Given the description of an element on the screen output the (x, y) to click on. 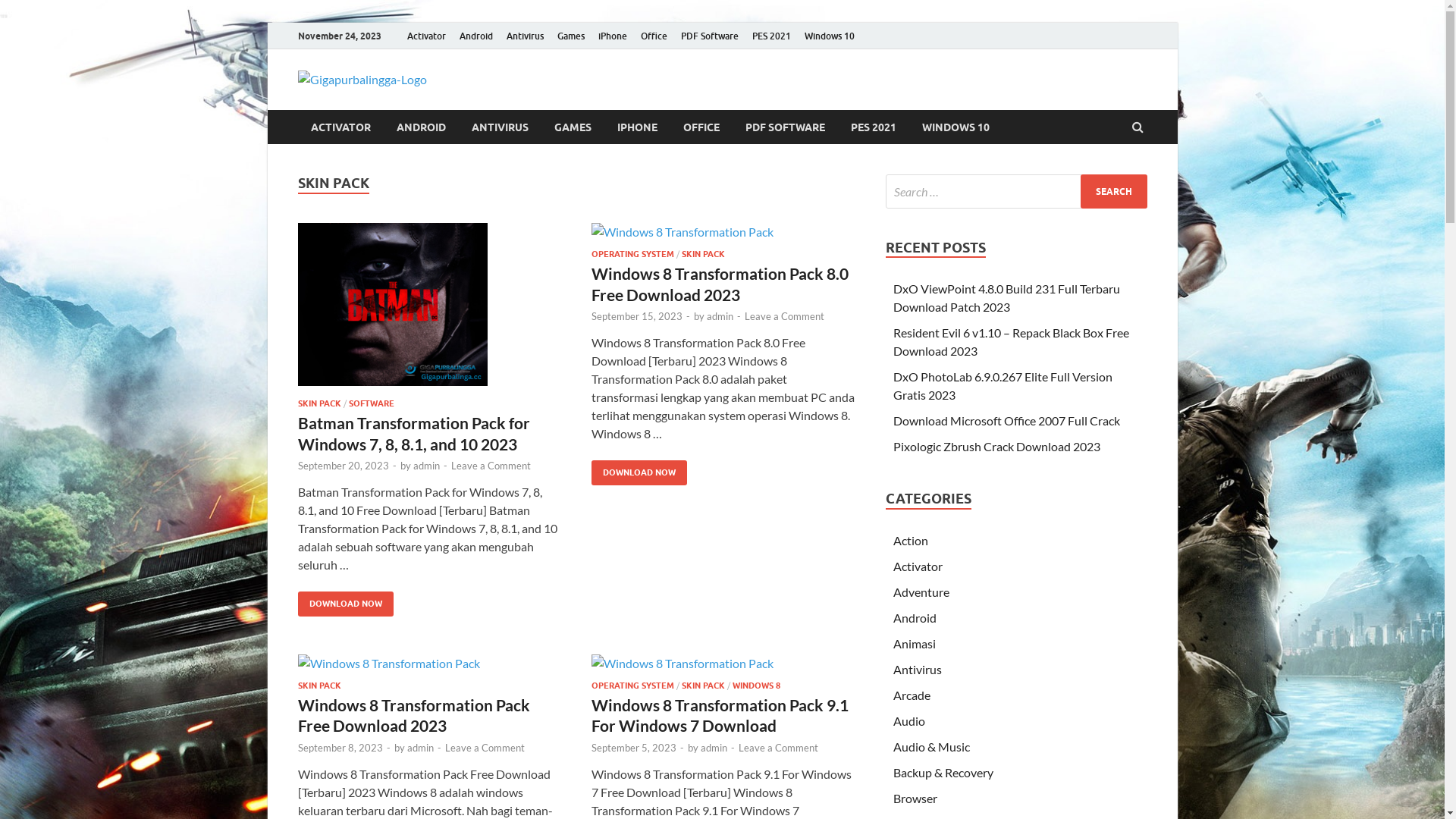
ACTIVATOR Element type: text (339, 126)
Windows 8 Transformation Pack Free Download 2023 Element type: hover (429, 667)
DxO PhotoLab 6.9.0.267 Elite Full Version Gratis 2023 Element type: text (1002, 385)
Windows 8 Transformation Pack 9.1 For Windows 7 Download Element type: text (719, 714)
Pixologic Zbrush Crack Download 2023 Element type: text (996, 446)
Activator Element type: text (426, 35)
iPhone Element type: text (612, 35)
September 8, 2023 Element type: text (339, 747)
SKIN PACK Element type: text (318, 403)
WINDOWS 8 Element type: text (756, 685)
Antivirus Element type: text (917, 669)
ANTIVIRUS Element type: text (499, 126)
IPHONE Element type: text (636, 126)
Office Element type: text (653, 35)
September 15, 2023 Element type: text (636, 316)
SOFTWARE Element type: text (371, 403)
admin Element type: text (719, 316)
Antivirus Element type: text (523, 35)
Android Element type: text (914, 617)
SKIN PACK Element type: text (318, 685)
September 5, 2023 Element type: text (633, 747)
SKIN PACK Element type: text (702, 253)
Action Element type: text (910, 540)
DOWNLOAD NOW Element type: text (344, 603)
Leave a Comment Element type: text (484, 747)
GAMES Element type: text (572, 126)
Leave a Comment Element type: text (490, 465)
PES 2021 Element type: text (872, 126)
Windows 8 Transformation Pack 8.0 Free Download 2023 Element type: hover (723, 235)
OFFICE Element type: text (701, 126)
PDF Software Element type: text (708, 35)
WINDOWS 10 Element type: text (954, 126)
Browser Element type: text (915, 797)
Windows 8 Transformation Pack 9.1 For Windows 7 Download Element type: hover (723, 667)
Search Element type: text (1112, 191)
Activator Element type: text (917, 565)
OPERATING SYSTEM Element type: text (632, 685)
Windows 10 Element type: text (829, 35)
Games Element type: text (570, 35)
Gigapurbalingga Element type: text (550, 101)
Audio & Music Element type: text (931, 746)
PES 2021 Element type: text (770, 35)
Android Element type: text (474, 35)
admin Element type: text (425, 465)
Leave a Comment Element type: text (784, 316)
OPERATING SYSTEM Element type: text (632, 253)
Download Microsoft Office 2007 Full Crack Element type: text (1006, 420)
September 20, 2023 Element type: text (342, 465)
Leave a Comment Element type: text (778, 747)
SKIN PACK Element type: text (702, 685)
ANDROID Element type: text (420, 126)
Arcade Element type: text (911, 694)
Backup & Recovery Element type: text (943, 772)
Animasi Element type: text (914, 643)
Audio Element type: text (909, 720)
Windows 8 Transformation Pack Free Download 2023 Element type: text (413, 714)
admin Element type: text (419, 747)
Adventure Element type: text (921, 591)
Windows 8 Transformation Pack 8.0 Free Download 2023 Element type: text (719, 283)
DOWNLOAD NOW Element type: text (639, 472)
PDF SOFTWARE Element type: text (784, 126)
admin Element type: text (713, 747)
